Given the description of an element on the screen output the (x, y) to click on. 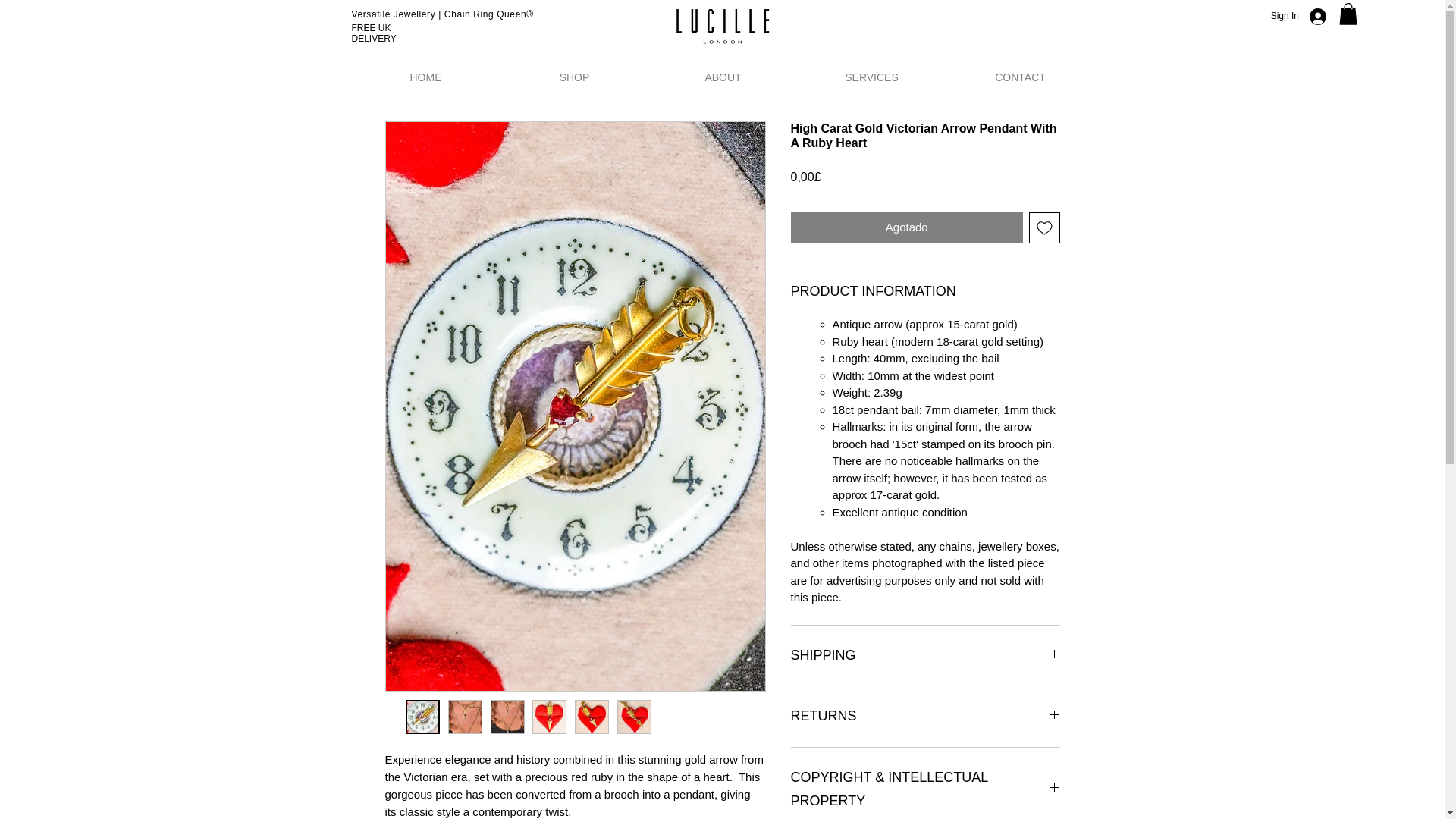
Agotado (906, 227)
Sign In (1307, 15)
PRODUCT INFORMATION (924, 291)
CONTACT (1020, 82)
HOME (426, 82)
SHIPPING (924, 655)
